Given the description of an element on the screen output the (x, y) to click on. 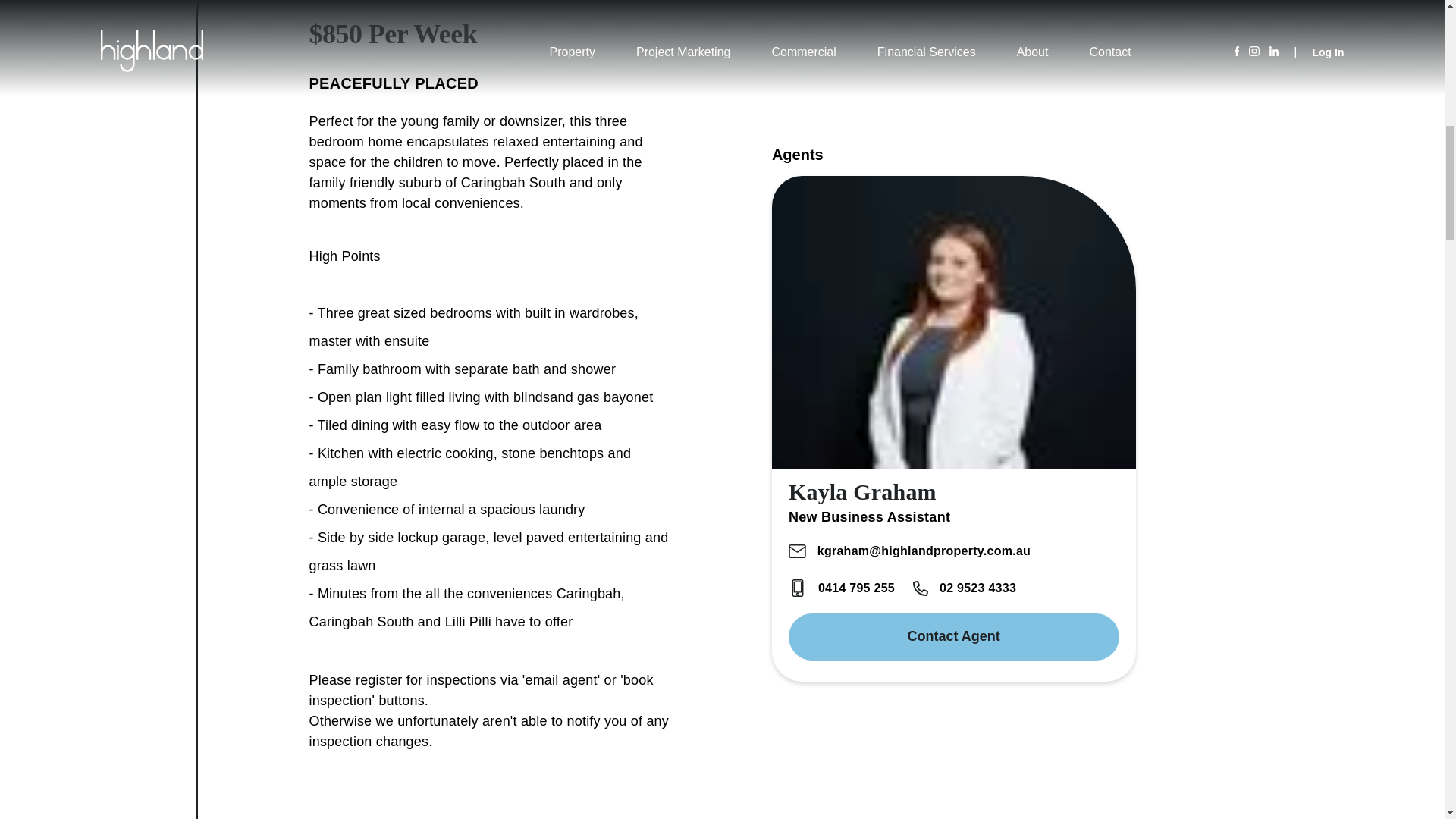
Kayla Graham (862, 491)
0414 795 255 (842, 587)
Contact Agent (954, 636)
02 9523 4333 (964, 587)
